Given the description of an element on the screen output the (x, y) to click on. 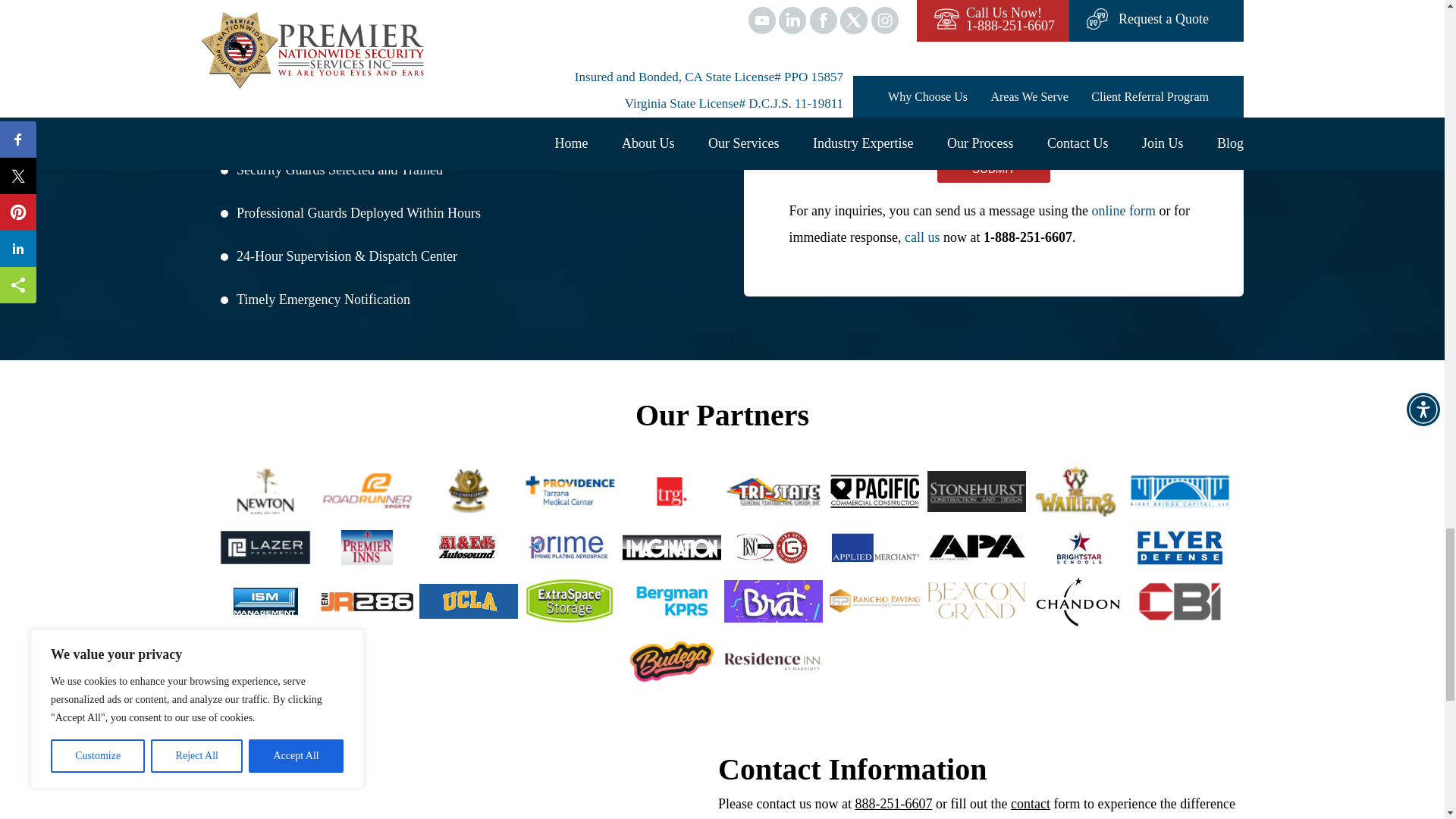
Submit (993, 168)
